Given the description of an element on the screen output the (x, y) to click on. 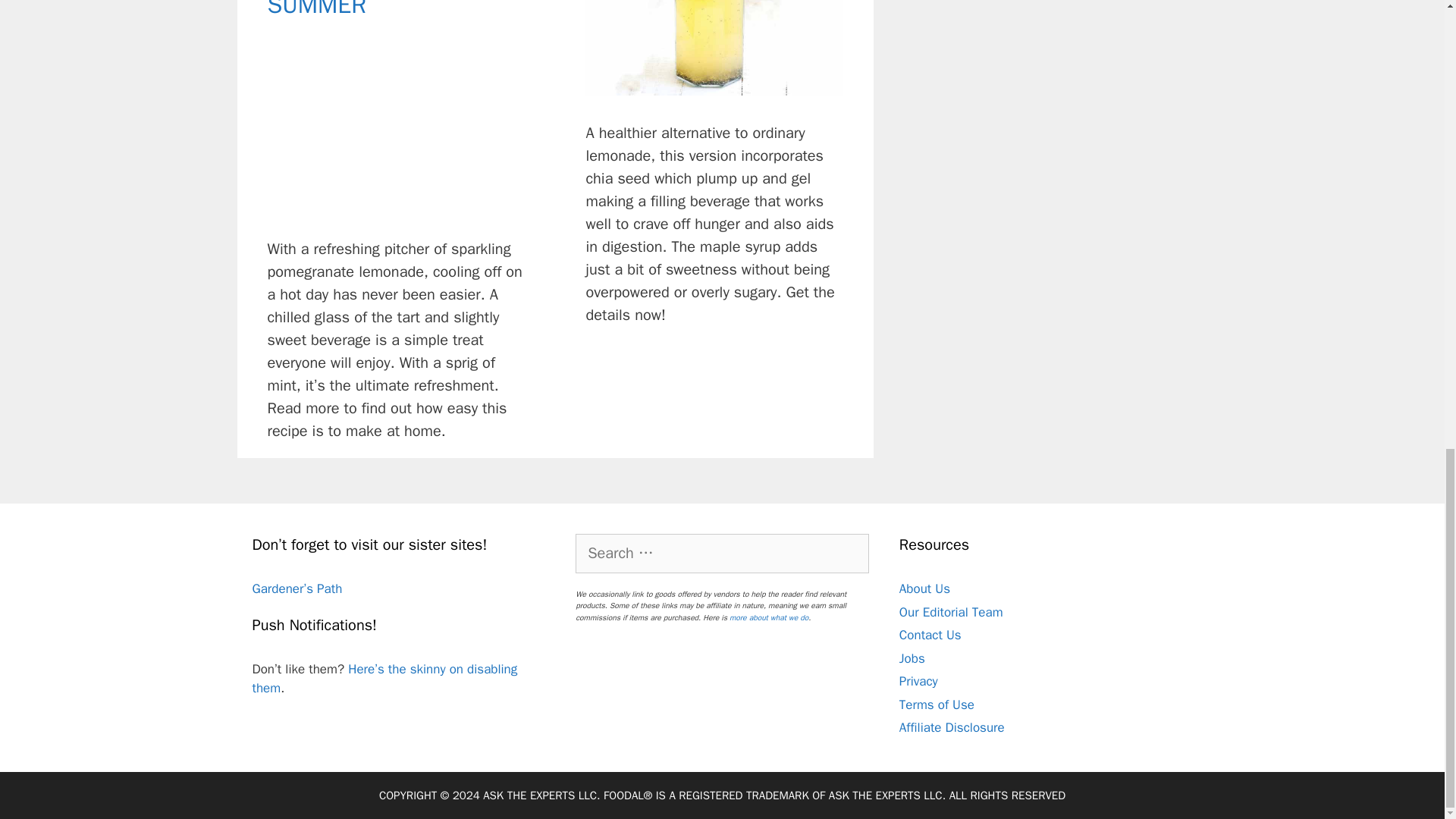
Search for: (722, 553)
